Given the description of an element on the screen output the (x, y) to click on. 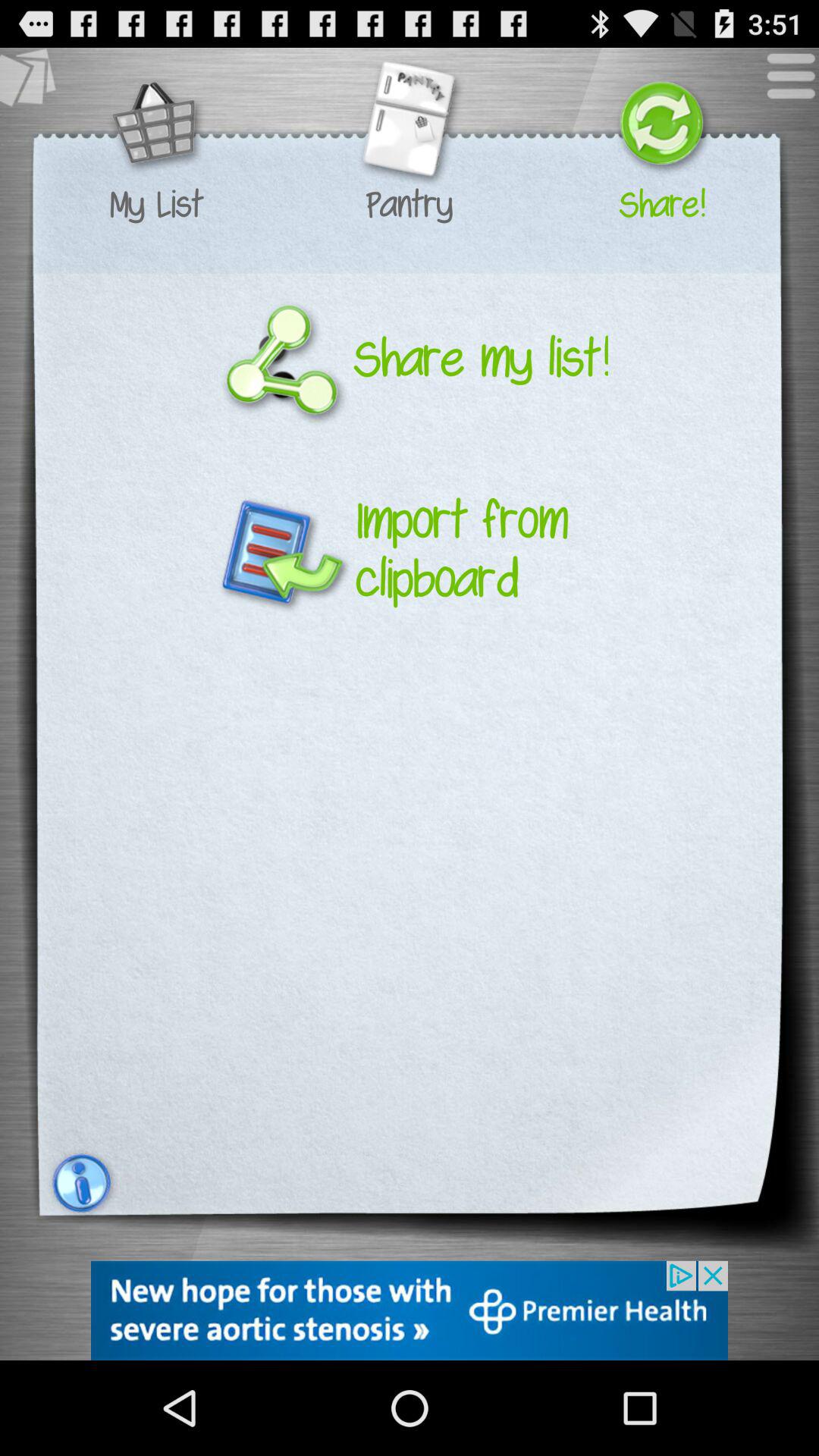
click to the notification (79, 1182)
